Given the description of an element on the screen output the (x, y) to click on. 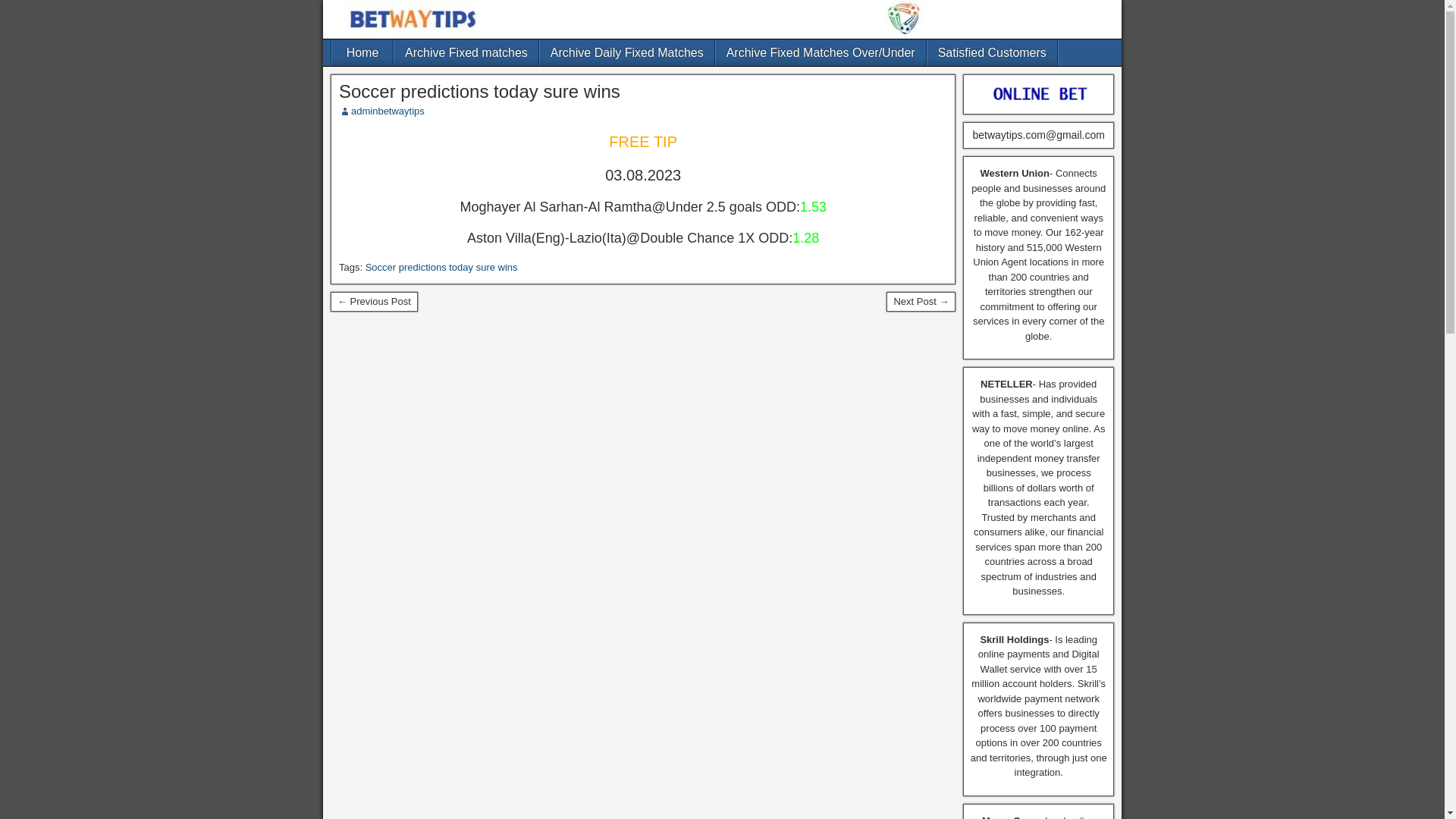
Archive Fixed matches (466, 52)
Soccer predictions today sure wins (441, 266)
adminbetwaytips (387, 111)
Home (362, 52)
bet prediction site (373, 301)
daily 98 winning tips (920, 301)
Soccer predictions today sure wins (479, 91)
Archive Daily Fixed Matches (627, 52)
Satisfied Customers (992, 52)
